Given the description of an element on the screen output the (x, y) to click on. 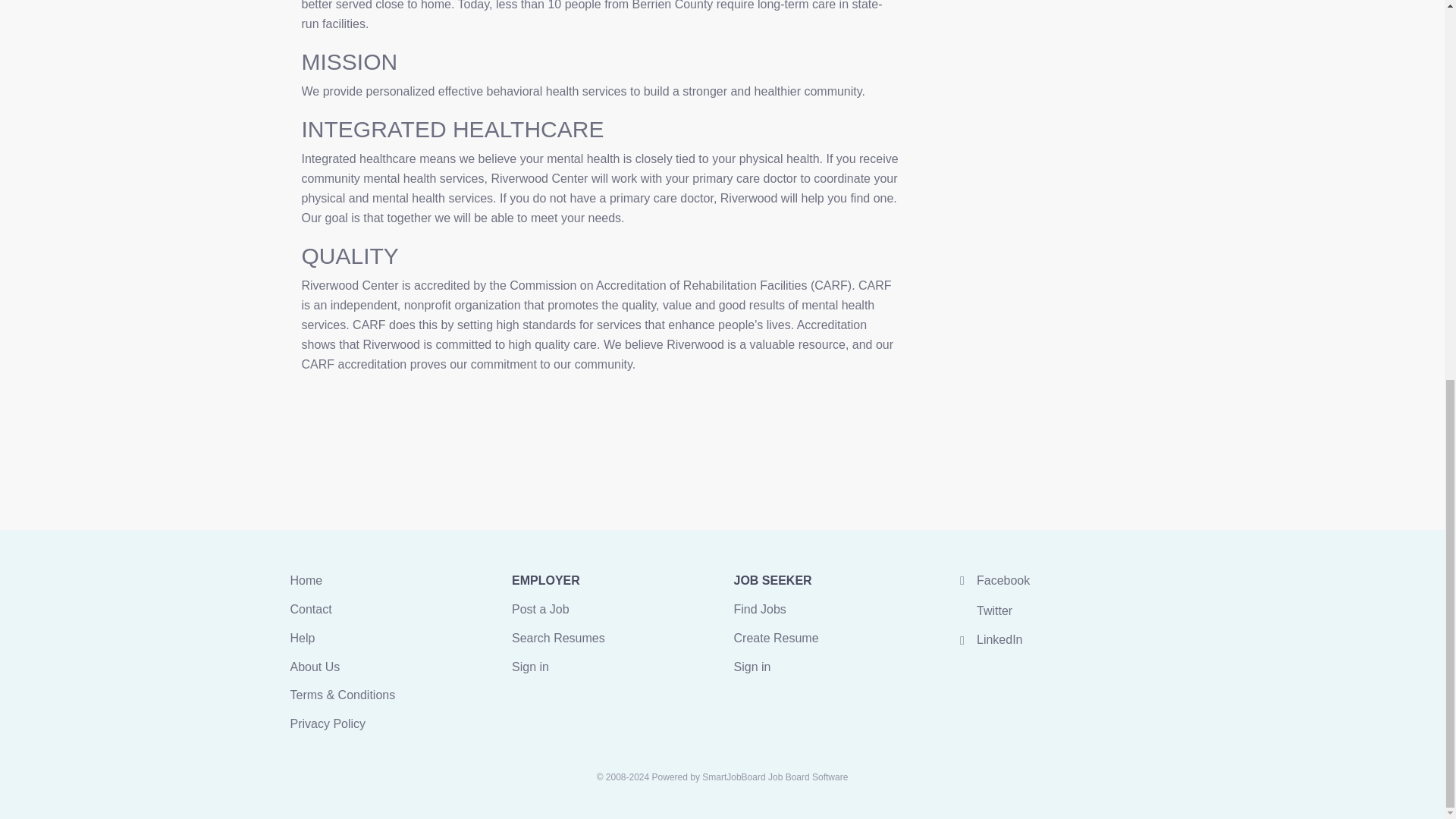
SmartJobBoard Job Board Software (774, 777)
Facebook (992, 580)
Job Board Software, Script (774, 777)
Home (305, 580)
About Us (314, 666)
Create Resume (775, 637)
LinkedIn (989, 639)
Contact (310, 608)
Post a Job (540, 608)
Twitter (983, 610)
Find Jobs (759, 608)
Search Resumes (558, 637)
Privacy Policy (327, 723)
Help (301, 637)
Sign in (530, 666)
